Given the description of an element on the screen output the (x, y) to click on. 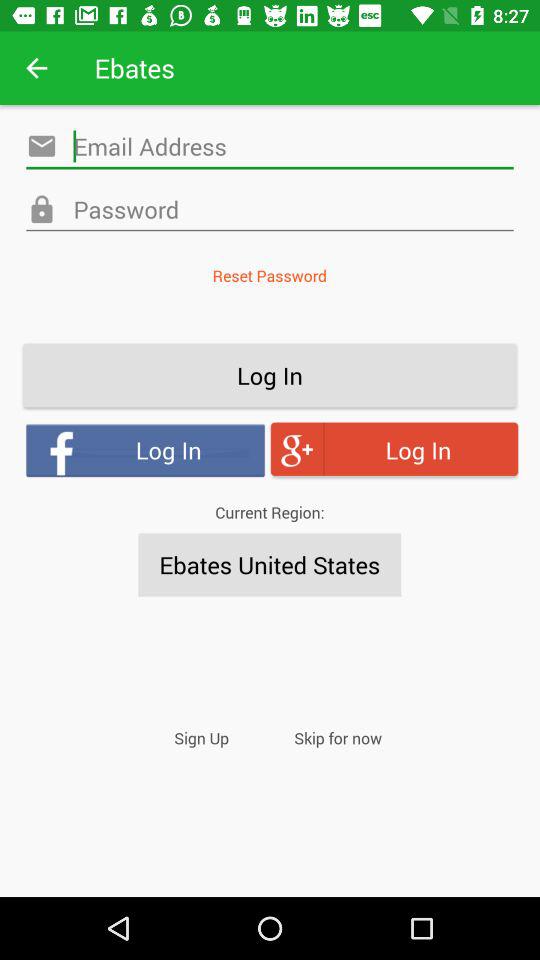
enter email address (270, 146)
